Given the description of an element on the screen output the (x, y) to click on. 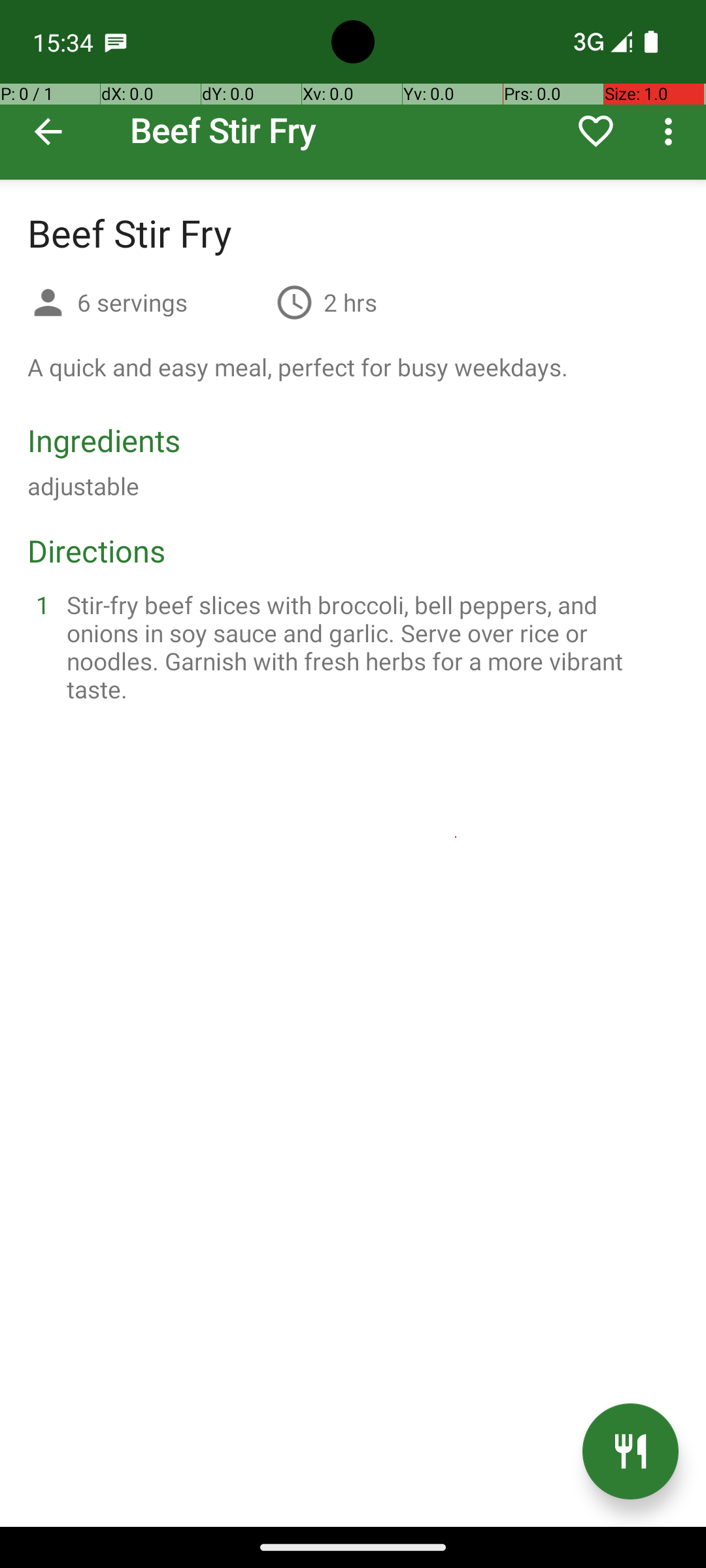
6 servings Element type: android.widget.TextView (170, 301)
2 hrs Element type: android.widget.TextView (350, 301)
adjustable Element type: android.widget.TextView (83, 485)
Stir-fry beef slices with broccoli, bell peppers, and onions in soy sauce and garlic. Serve over rice or noodles. Garnish with fresh herbs for a more vibrant taste. Element type: android.widget.TextView (368, 646)
